Given the description of an element on the screen output the (x, y) to click on. 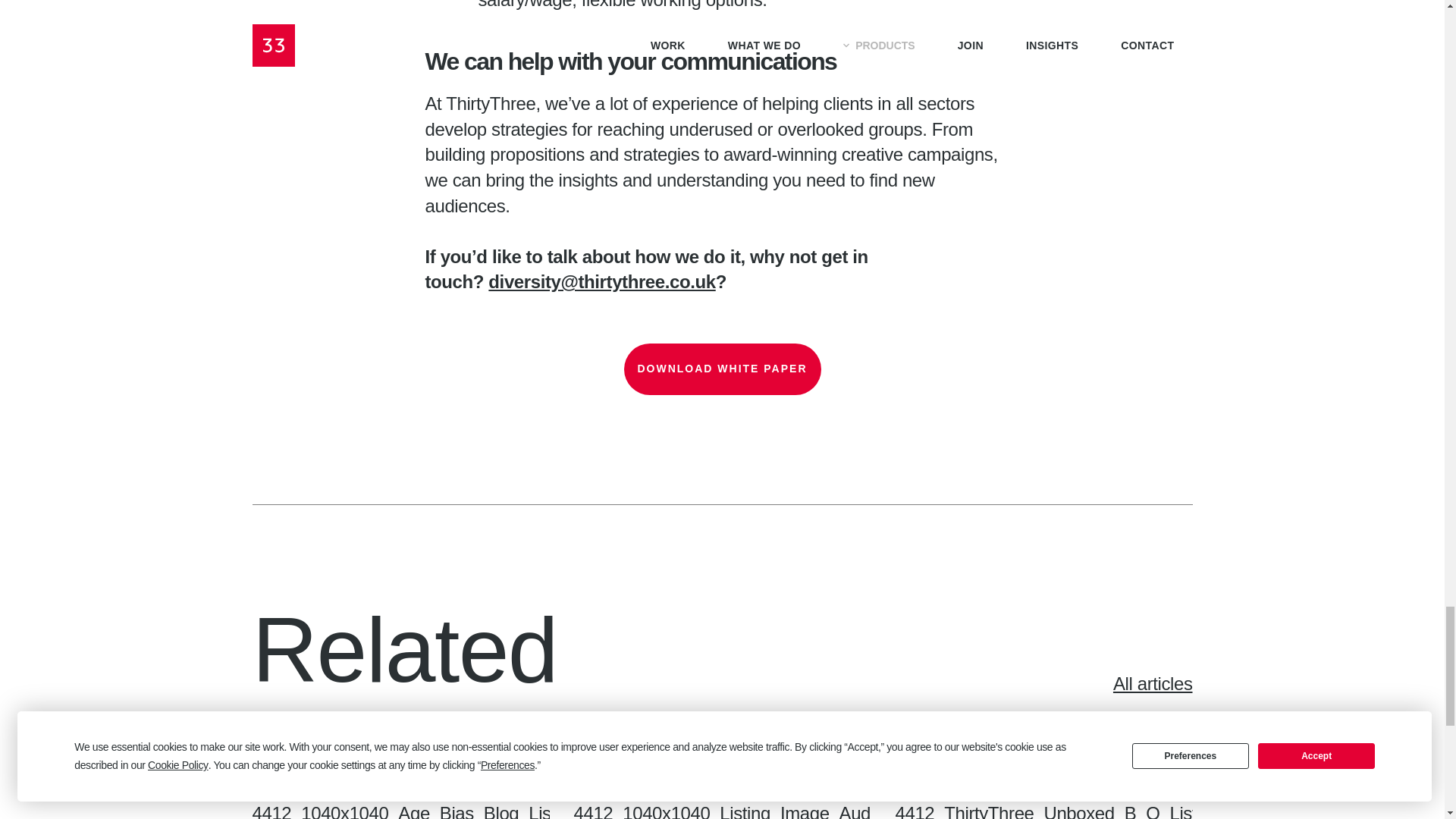
All articles (1085, 683)
DOWNLOAD WHITE PAPER (722, 368)
